Given the description of an element on the screen output the (x, y) to click on. 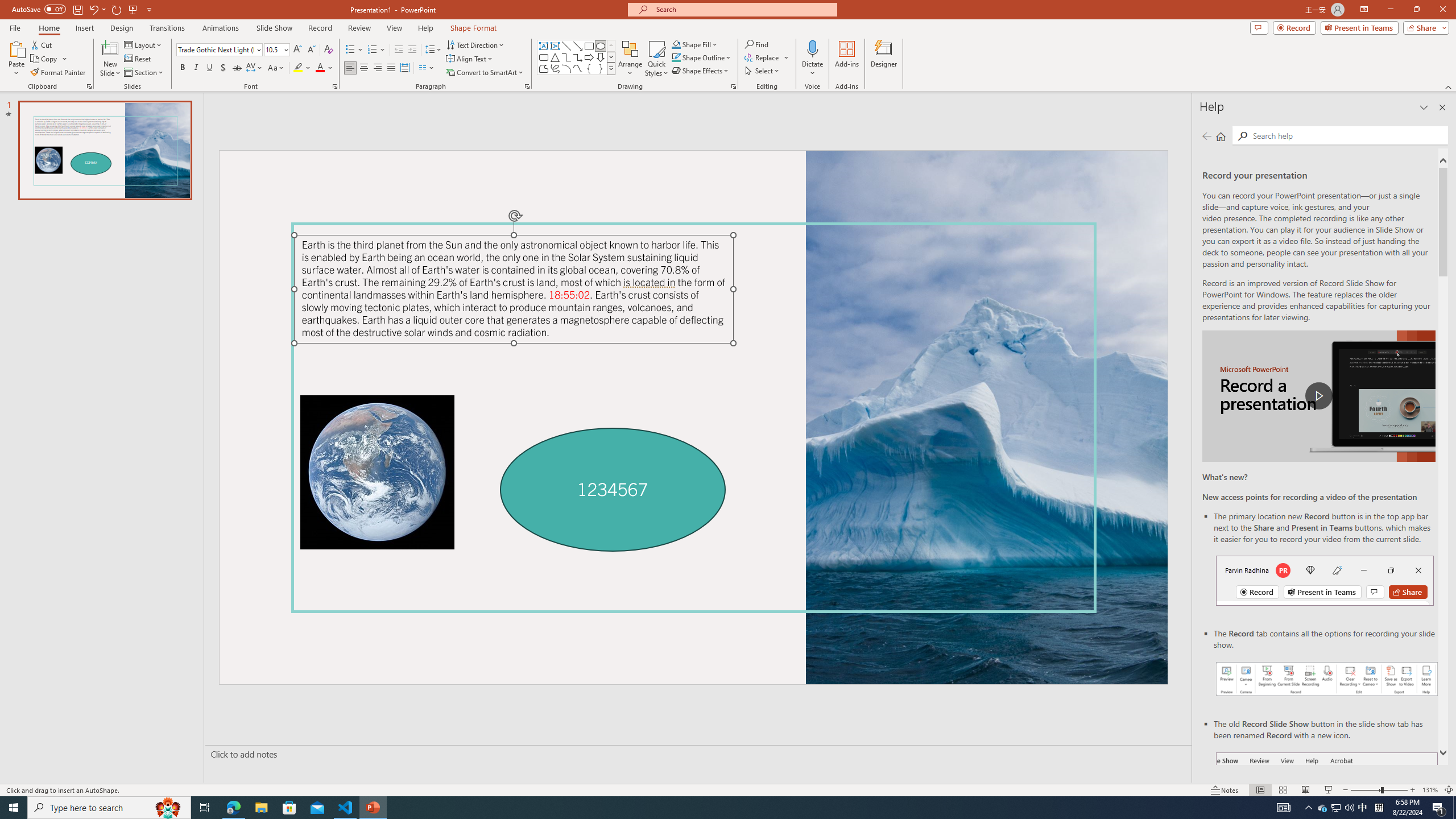
Shape Effects (700, 69)
Previous page (1206, 136)
